Given the description of an element on the screen output the (x, y) to click on. 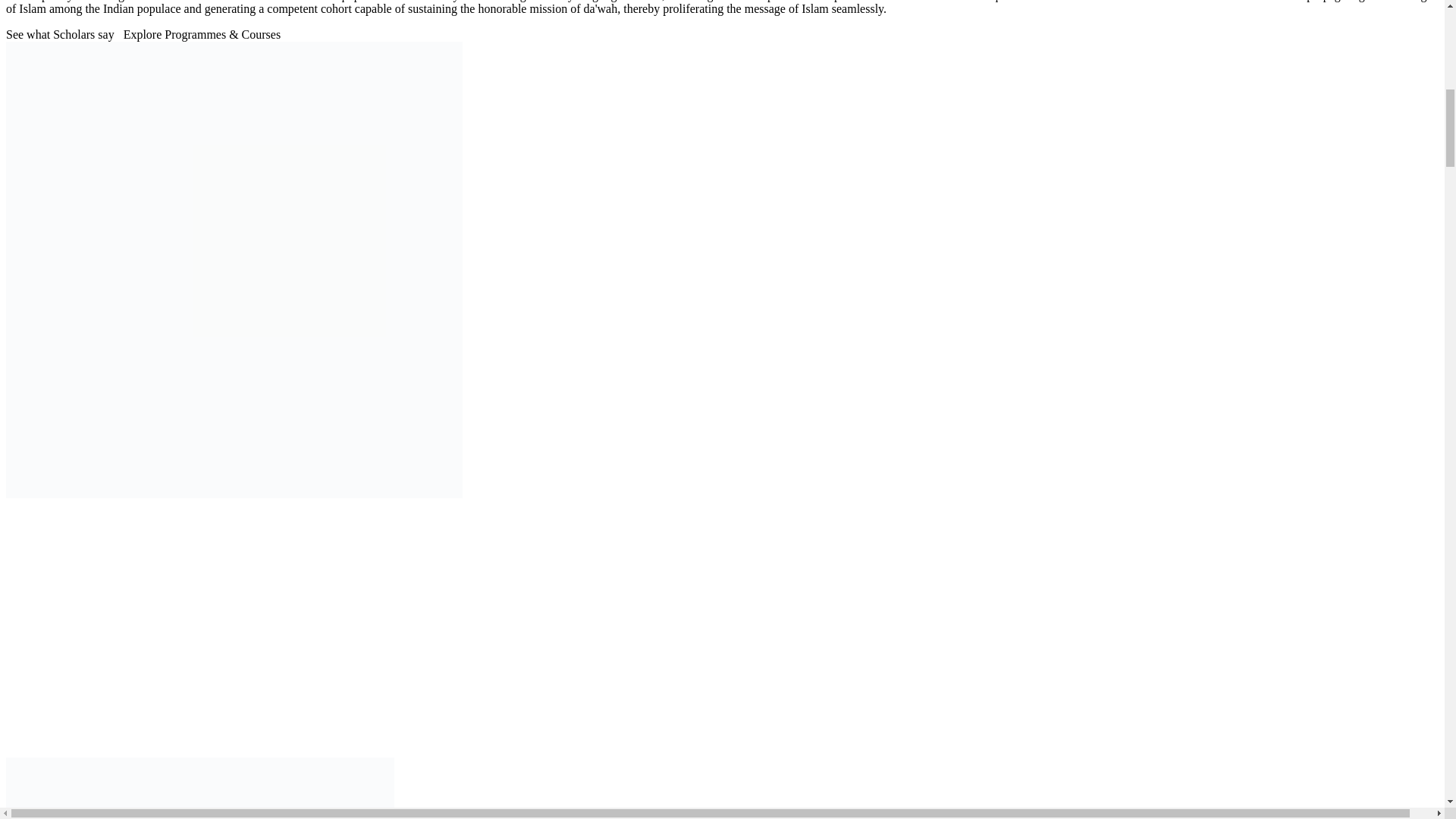
See what Scholars say (60, 34)
